Given the description of an element on the screen output the (x, y) to click on. 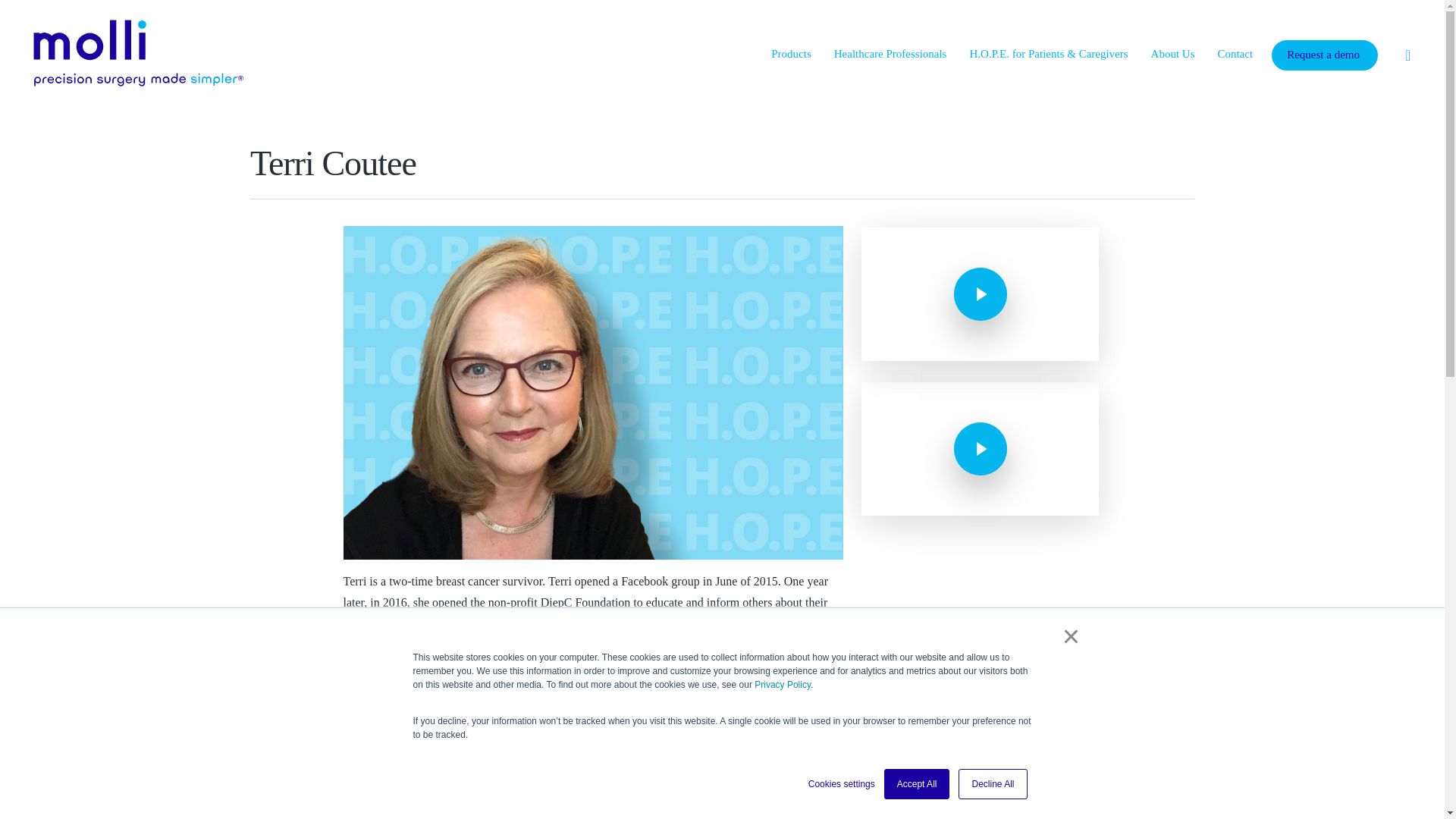
Decline All (992, 784)
Accept All (916, 784)
About Us (1173, 54)
Cookies settings (841, 784)
Request a demo (1322, 54)
Healthcare Professionals (890, 54)
Contact (1235, 54)
Privacy Policy (782, 684)
Products (790, 54)
